Given the description of an element on the screen output the (x, y) to click on. 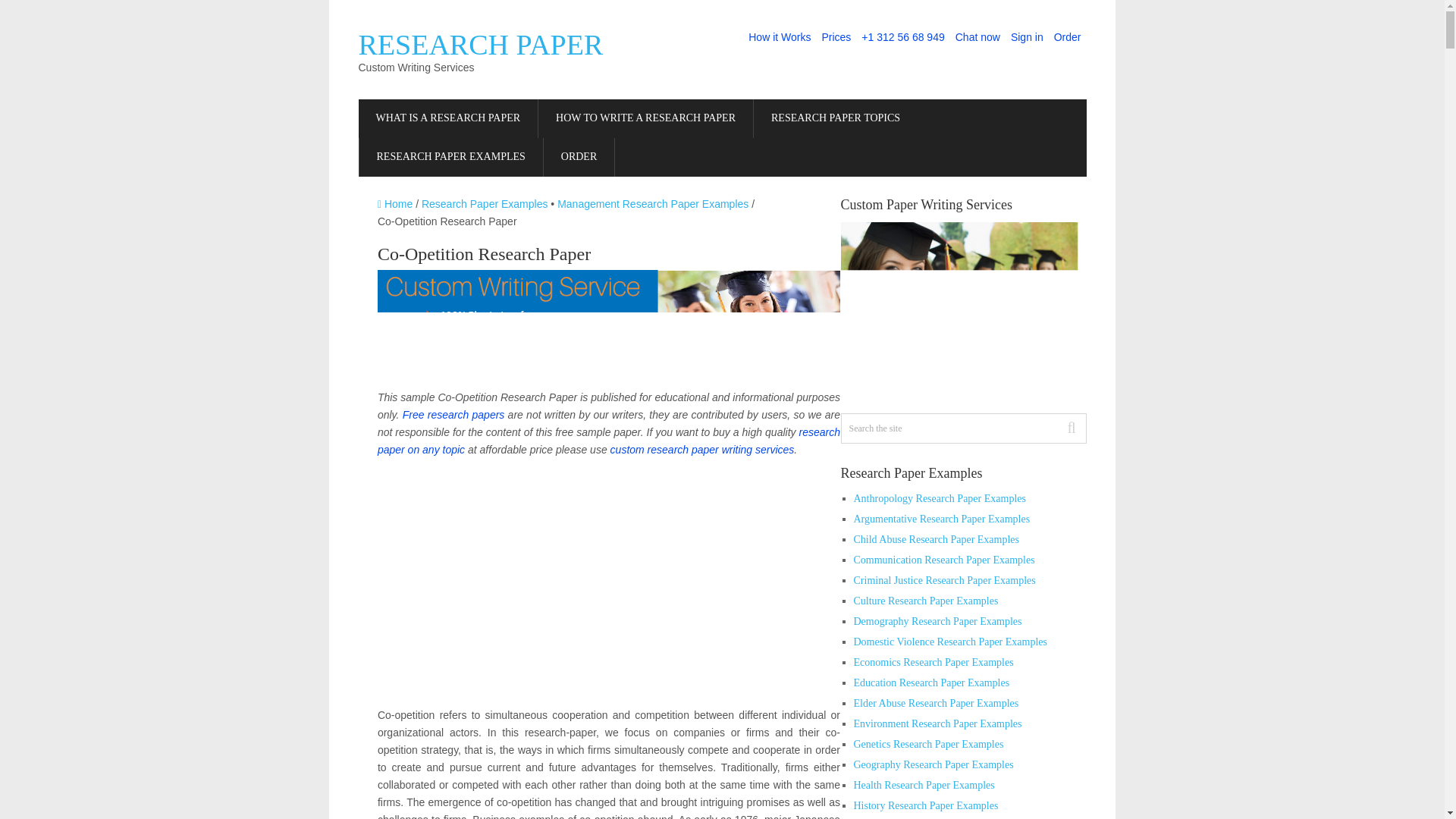
Management Research Paper Examples (652, 203)
custom research paper writing services (702, 449)
Order (1067, 37)
ORDER (578, 157)
WHAT IS A RESEARCH PAPER (447, 118)
RESEARCH PAPER TOPICS (835, 118)
Home (394, 203)
Prices (835, 37)
Buy Custom Research Paper (578, 157)
Sign in (1027, 37)
